Given the description of an element on the screen output the (x, y) to click on. 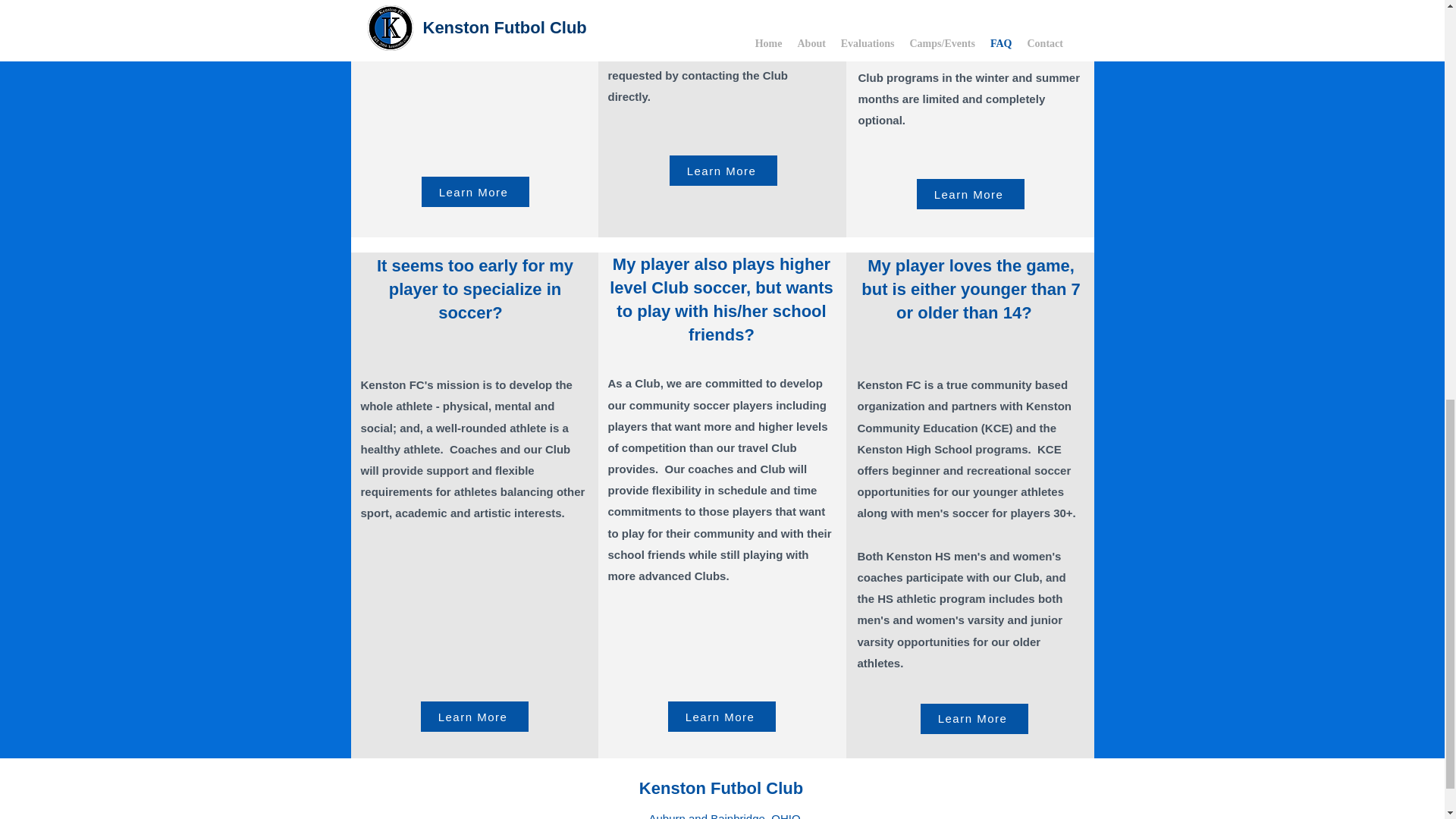
Learn More (473, 716)
Learn More (969, 194)
Learn More (973, 718)
Kenston Futbol Club (721, 787)
Learn More (722, 170)
Learn More (720, 716)
Learn More (475, 191)
